Given the description of an element on the screen output the (x, y) to click on. 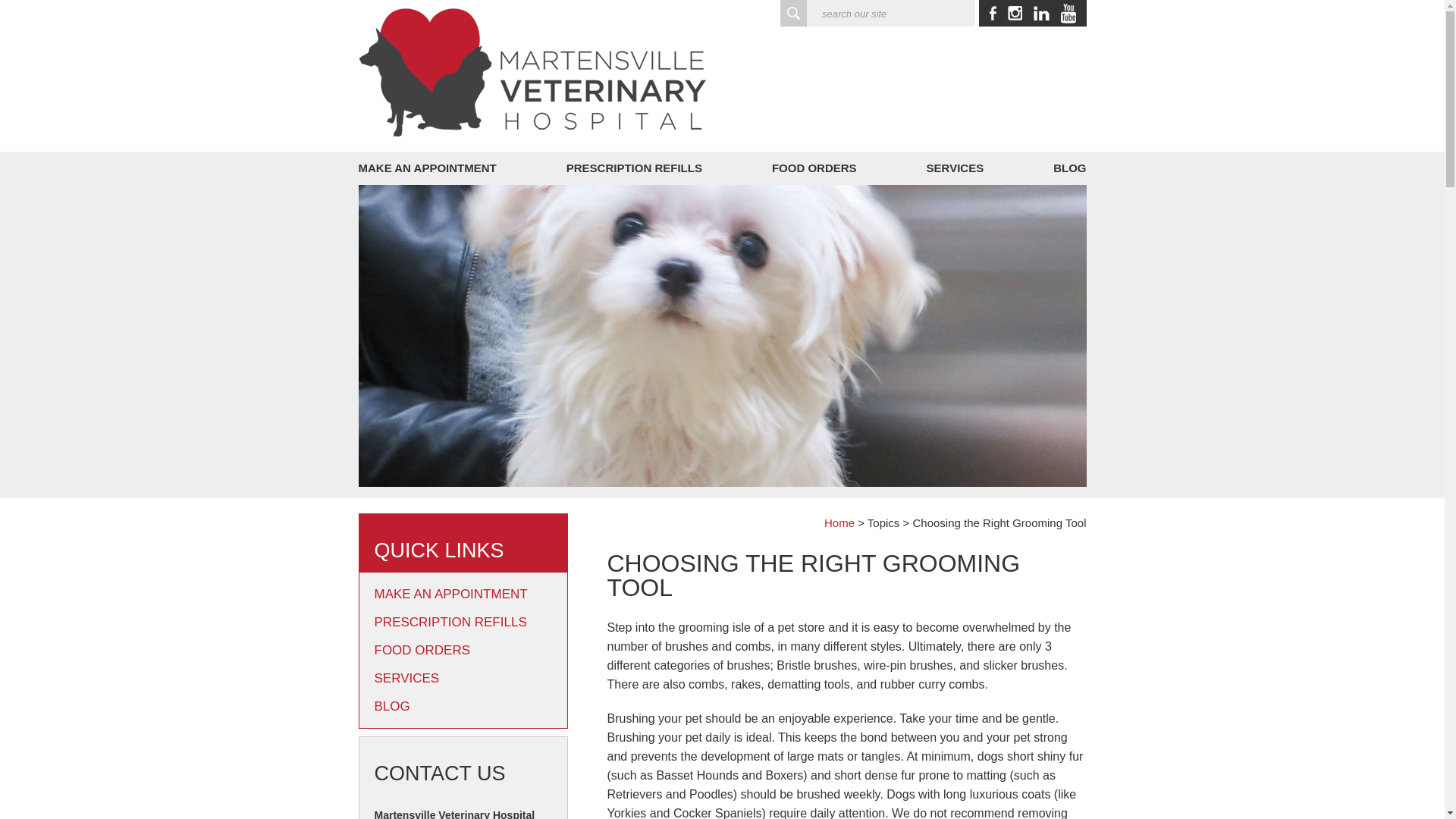
SERVICES (463, 678)
MAKE AN APPOINTMENT (432, 168)
Search (793, 13)
MAKE AN APPOINTMENT (463, 593)
Search (793, 13)
Search (793, 13)
PRESCRIPTION REFILLS (633, 168)
Martensville Veterinary Hospital (531, 72)
FOOD ORDERS (463, 650)
BLOG (1064, 168)
FOOD ORDERS (813, 168)
SERVICES (955, 168)
Home (839, 522)
BLOG (463, 706)
PRESCRIPTION REFILLS (463, 622)
